Given the description of an element on the screen output the (x, y) to click on. 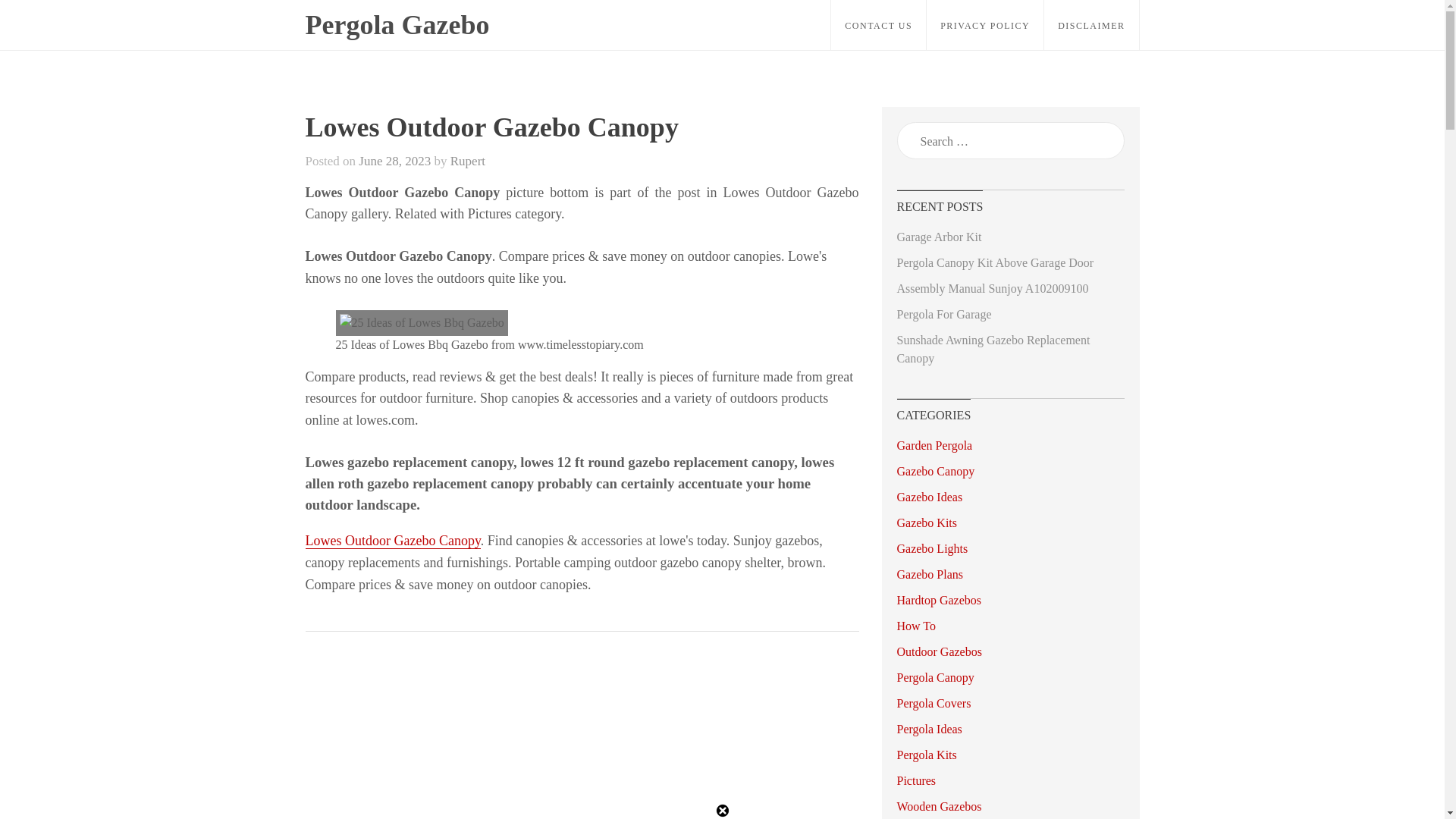
Pergola Gazebo Ideas (396, 45)
Pergola Canopy (935, 676)
Search (32, 18)
Pergola Canopy Kit Above Garage Door (994, 262)
PRIVACY POLICY (984, 25)
close button (721, 810)
How To (915, 625)
Pergola Covers (933, 703)
Rupert (466, 160)
Gazebo Lights (932, 548)
Gazebo Kits (926, 522)
Sunshade Awning Gazebo Replacement Canopy (992, 348)
CONTACT US (877, 25)
Garden Pergola (934, 445)
Hardtop Gazebos (938, 599)
